Given the description of an element on the screen output the (x, y) to click on. 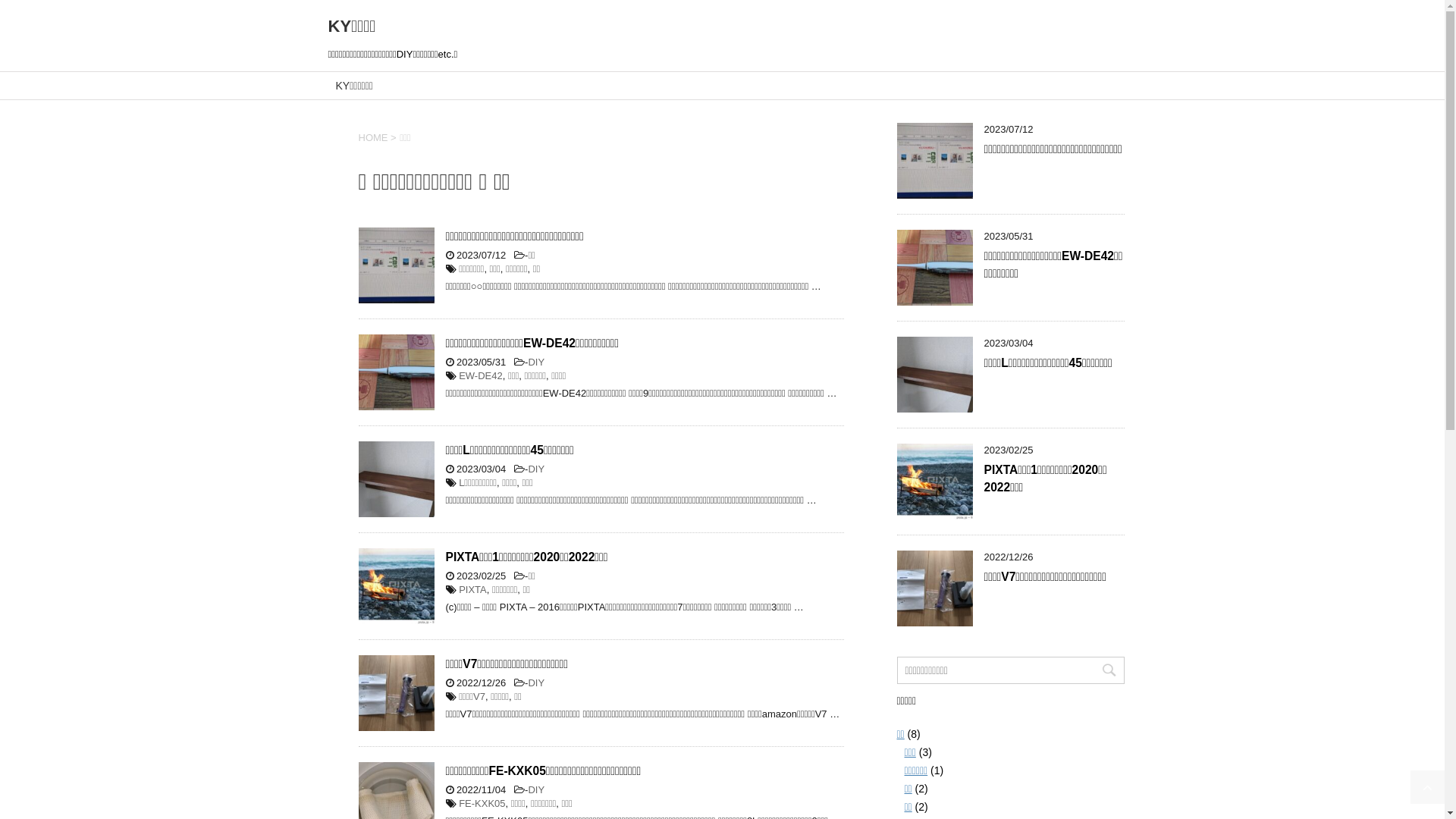
FE-KXK05 Element type: text (481, 803)
DIY Element type: text (535, 682)
PIXTA Element type: text (472, 589)
HOME Element type: text (372, 137)
DIY Element type: text (535, 468)
EW-DE42 Element type: text (480, 375)
DIY Element type: text (535, 789)
DIY Element type: text (535, 361)
